Given the description of an element on the screen output the (x, y) to click on. 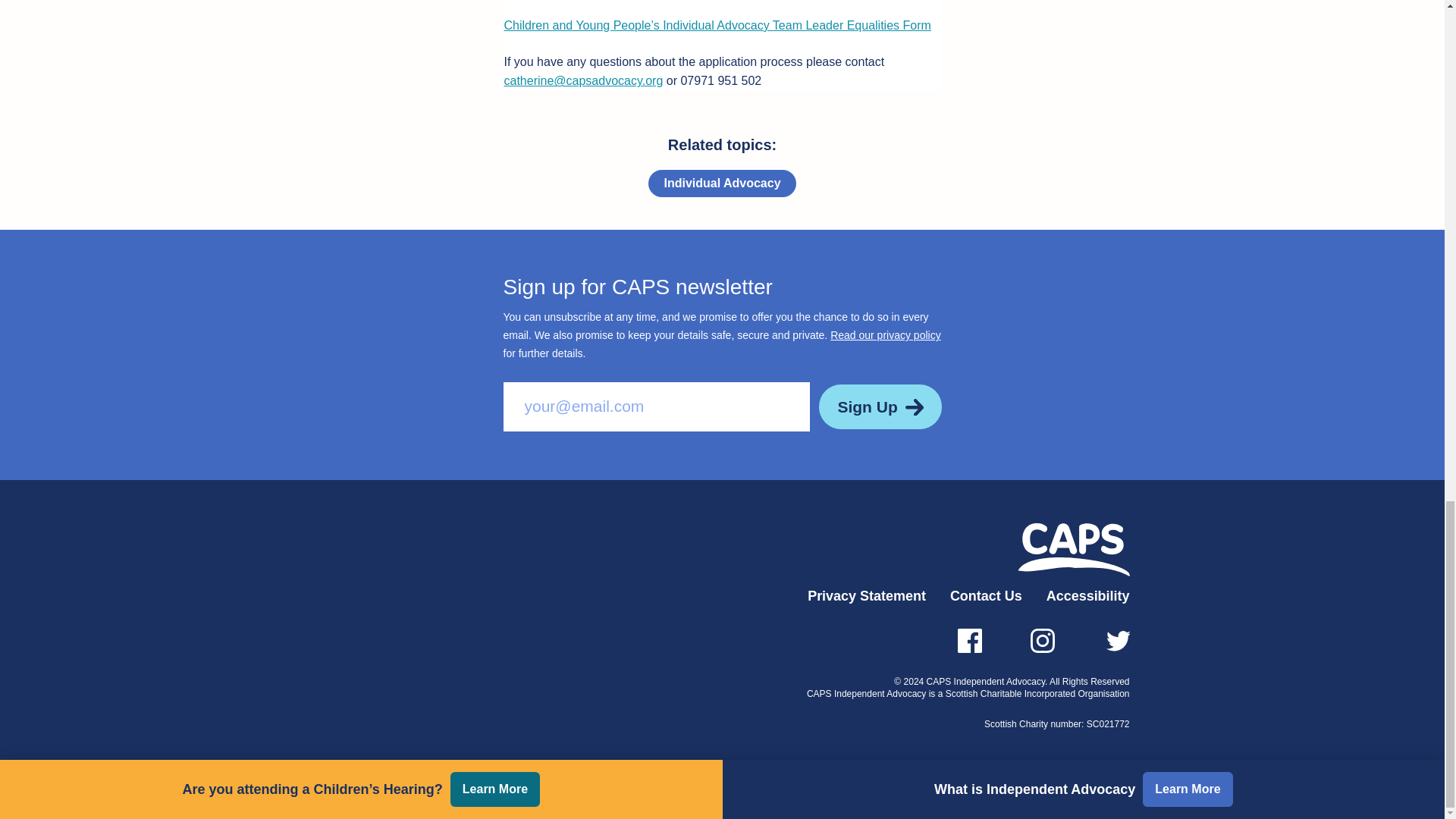
Twitter (1115, 640)
Individual Advocacy (720, 183)
Read our privacy policy (884, 335)
Enter your email to signup to our newsletter (656, 406)
Sign Up (880, 406)
Accessibility (1087, 596)
CAPS LogoHome (1073, 549)
Contact Us (986, 596)
Privacy Statement (867, 596)
Instagram (1041, 640)
Facebook (968, 640)
CAPS LogoHome (1073, 549)
